Given the description of an element on the screen output the (x, y) to click on. 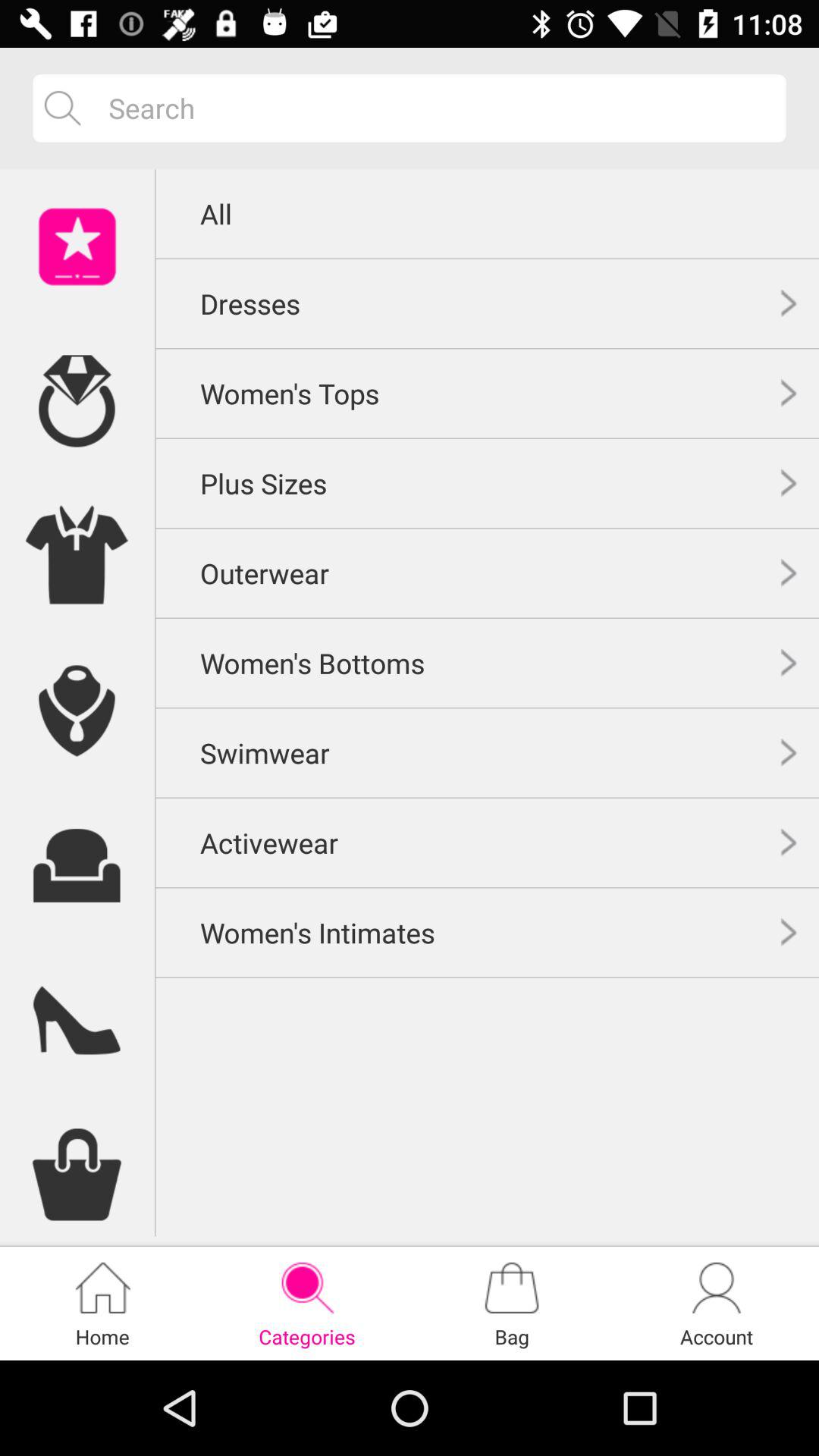
search something (435, 108)
